Given the description of an element on the screen output the (x, y) to click on. 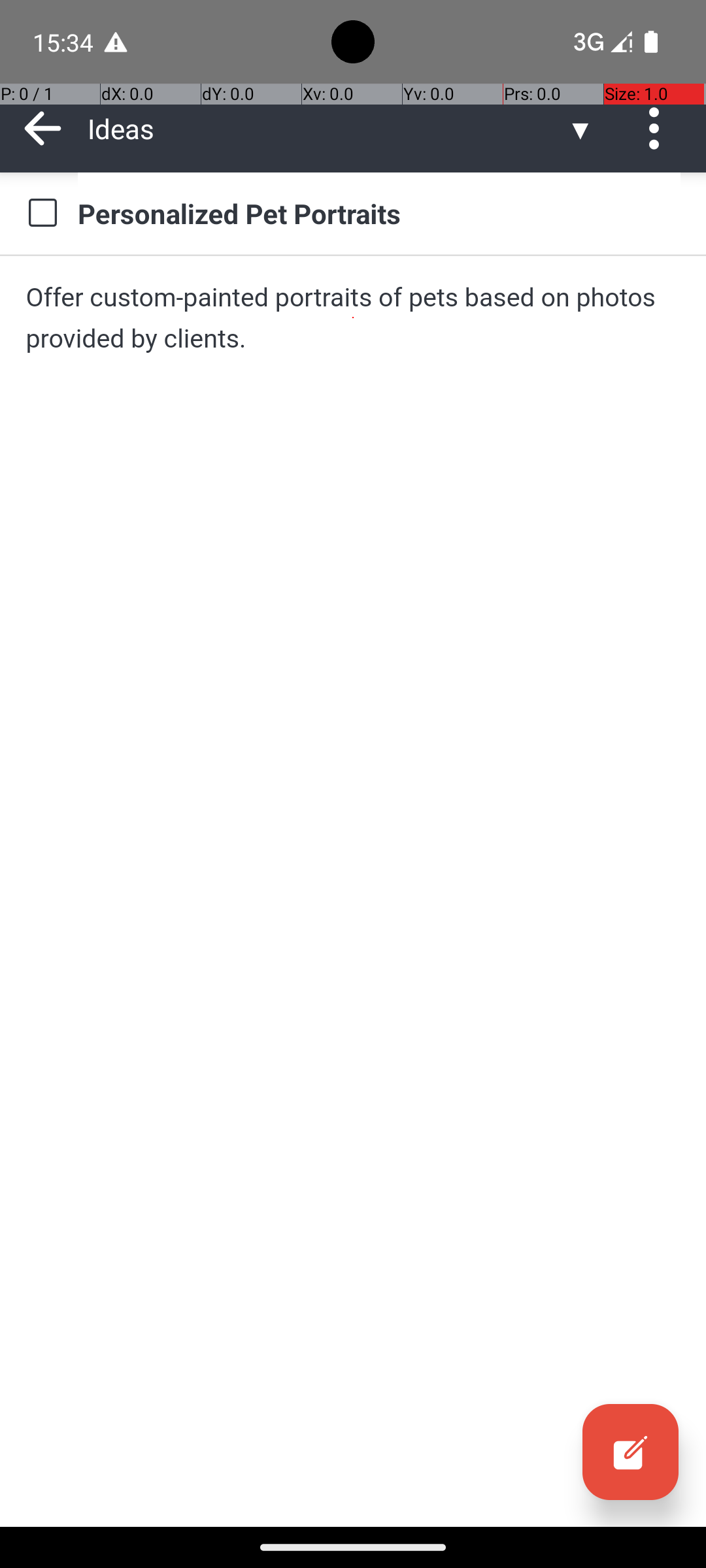
Personalized Pet Portraits Element type: android.widget.EditText (378, 213)
Offer custom-painted portraits of pets based on photos provided by clients. Element type: android.widget.TextView (352, 317)
